Given the description of an element on the screen output the (x, y) to click on. 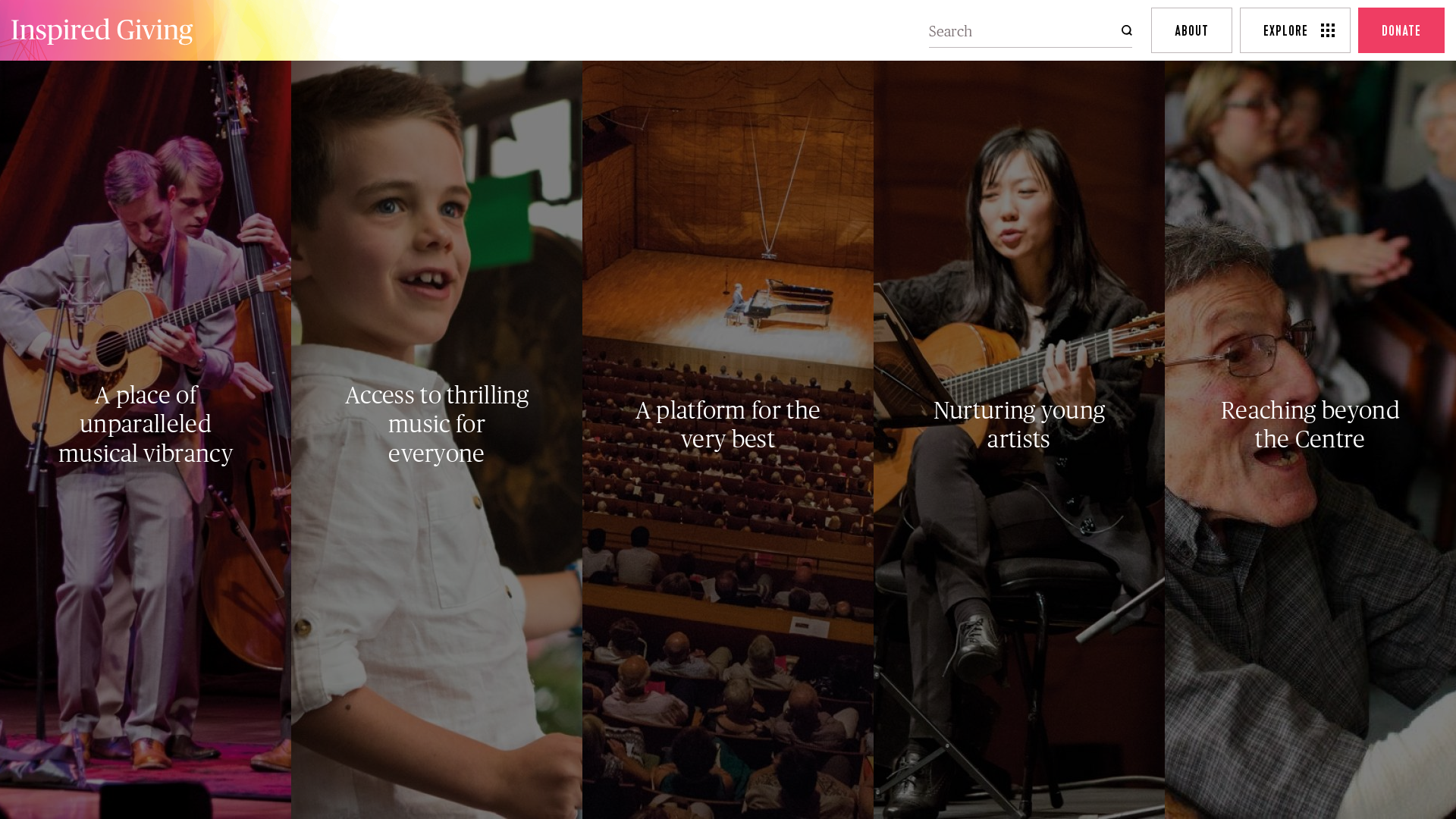
Reaching beyond the Centre Element type: text (1310, 424)
Access to thrilling music for everyone Element type: text (436, 423)
DONATE Element type: text (1401, 30)
Nurturing young artists Element type: text (1018, 424)
EXPLORE Element type: text (1294, 30)
Search Element type: text (1115, 30)
ABOUT Element type: text (1191, 30)
A place of unparalleled musical vibrancy Element type: text (145, 423)
A platform for the very best Element type: text (727, 424)
